Given the description of an element on the screen output the (x, y) to click on. 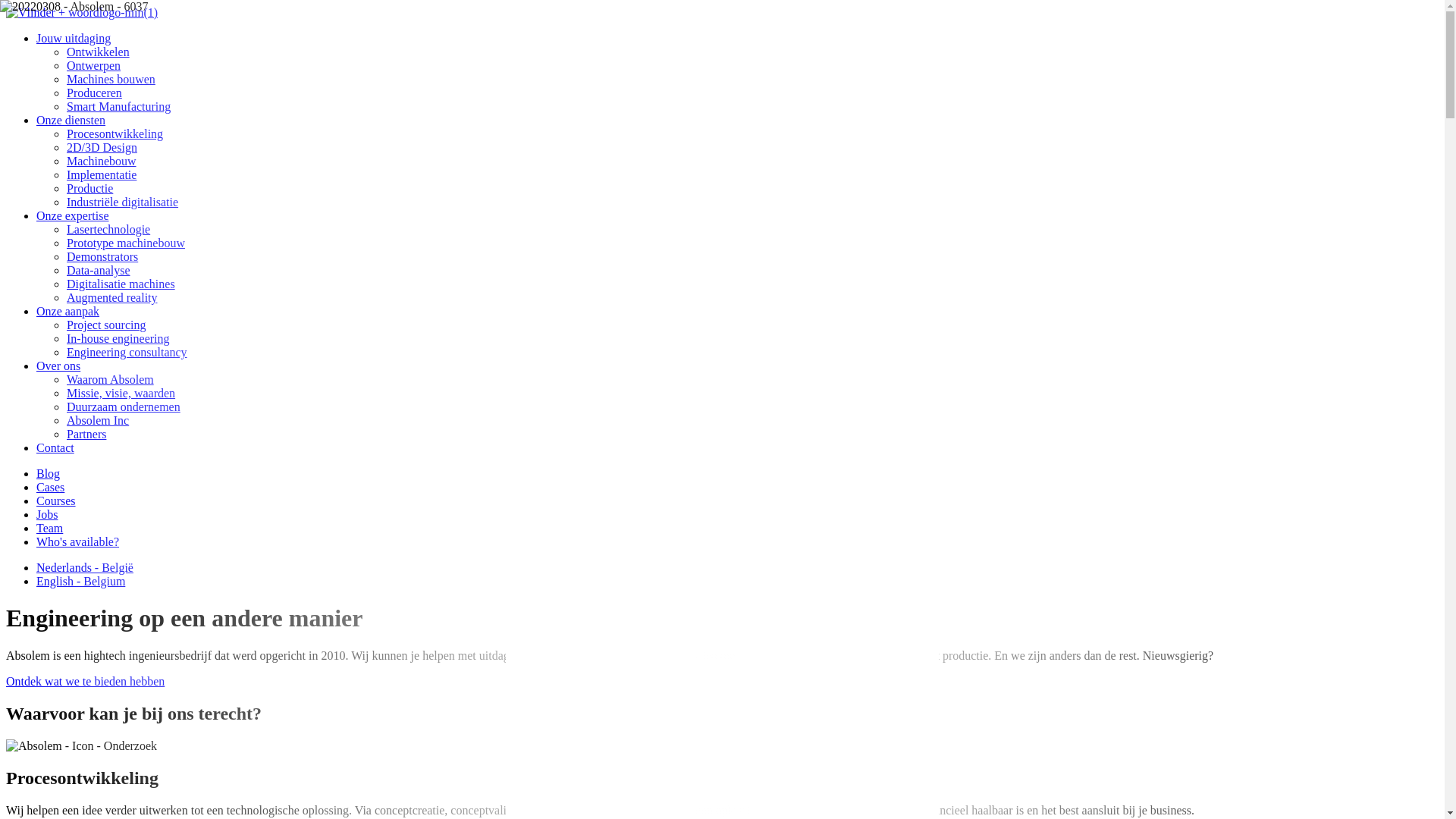
Team Element type: text (49, 527)
Ontwikkelen Element type: text (97, 51)
Waarom Absolem Element type: text (109, 379)
Prototype machinebouw Element type: text (125, 242)
In-house engineering Element type: text (117, 338)
Onze diensten Element type: text (70, 119)
Over ons Element type: text (58, 365)
Ontdek wat we te bieden hebben Element type: text (85, 680)
Data-analyse Element type: text (98, 269)
Vlinder + woordlogo-min(1) Element type: hover (81, 12)
Duurzaam ondernemen Element type: text (123, 406)
English - Belgium Element type: text (80, 580)
Project sourcing Element type: text (105, 324)
Augmented reality Element type: text (111, 297)
Partners Element type: text (86, 433)
Smart Manufacturing Element type: text (118, 106)
Courses Element type: text (55, 500)
Implementatie Element type: text (101, 174)
Missie, visie, waarden Element type: text (120, 392)
2D/3D Design Element type: text (101, 147)
Productie Element type: text (89, 188)
Demonstrators Element type: text (102, 256)
Procesontwikkeling Element type: text (114, 133)
Machines bouwen Element type: text (110, 78)
Jouw uitdaging Element type: text (73, 37)
Jobs Element type: text (46, 514)
Onze aanpak Element type: text (67, 310)
Who's available? Element type: text (77, 541)
Engineering consultancy Element type: text (126, 351)
Digitalisatie machines Element type: text (120, 283)
Absolem Inc Element type: text (97, 420)
Cases Element type: text (50, 486)
Produceren Element type: text (94, 92)
Lasertechnologie Element type: text (108, 228)
Onze expertise Element type: text (72, 215)
Ontwerpen Element type: text (93, 65)
Blog Element type: text (47, 473)
Machinebouw Element type: text (101, 160)
Contact Element type: text (55, 447)
